Given the description of an element on the screen output the (x, y) to click on. 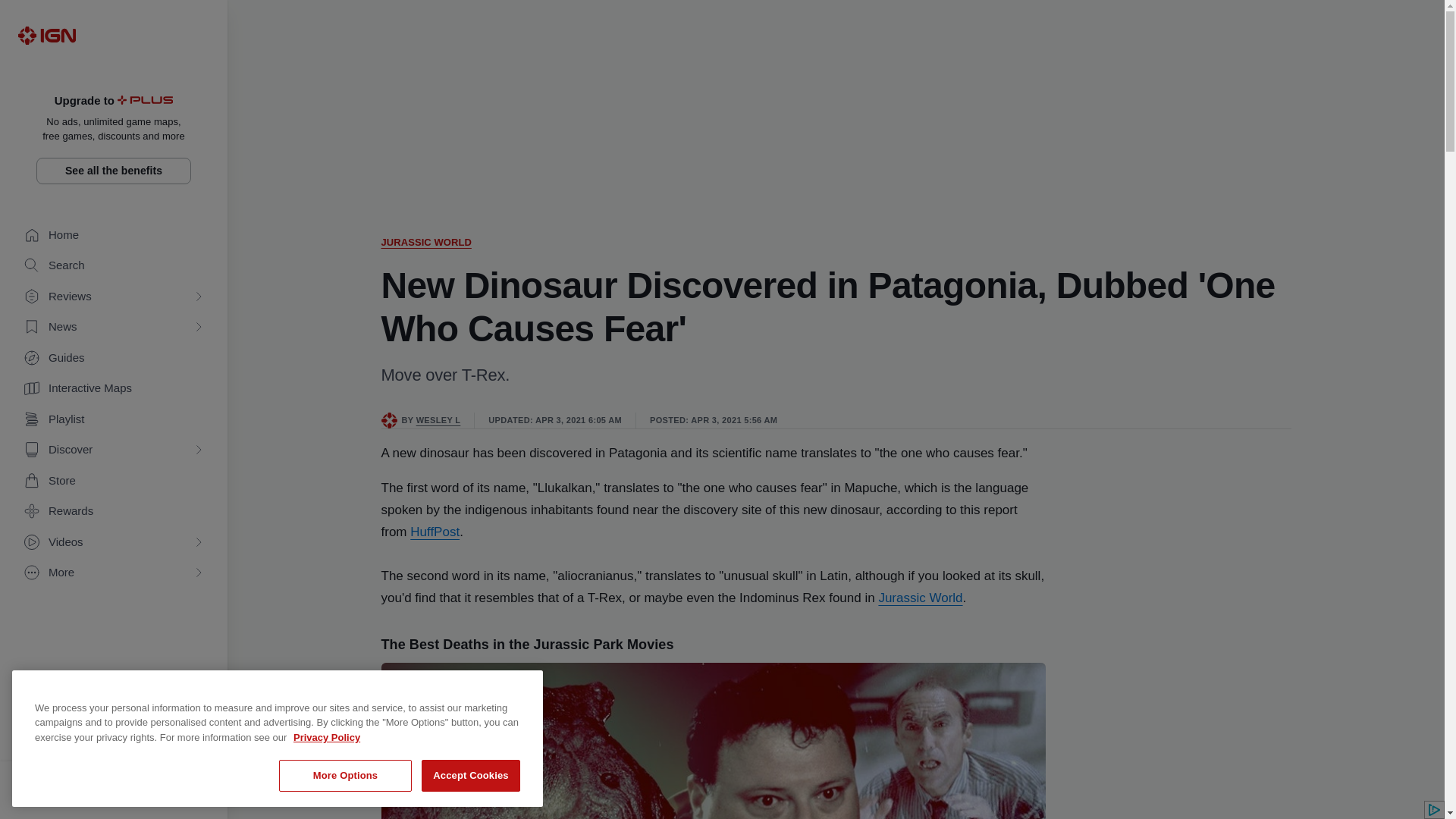
More (113, 572)
Guides (113, 357)
Search (113, 265)
More (113, 572)
IGN Logo (46, 35)
Home (113, 234)
Discover (113, 449)
See all the benefits (113, 171)
Interactive Maps (113, 388)
Playlist (113, 419)
Rewards (113, 511)
News (113, 327)
Rewards (113, 511)
News (113, 327)
Discover (113, 449)
